Given the description of an element on the screen output the (x, y) to click on. 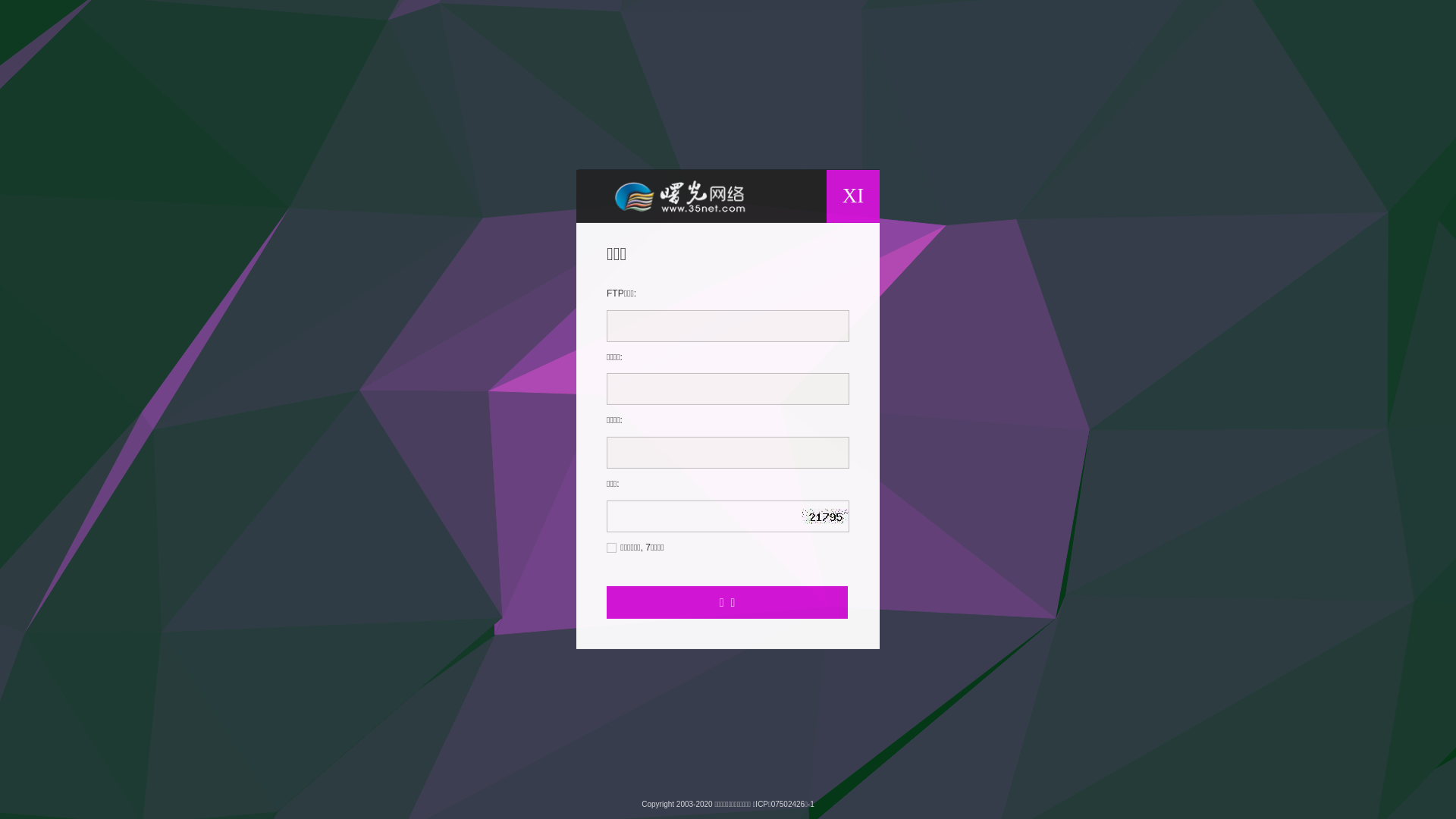
  Element type: text (841, 510)
